Given the description of an element on the screen output the (x, y) to click on. 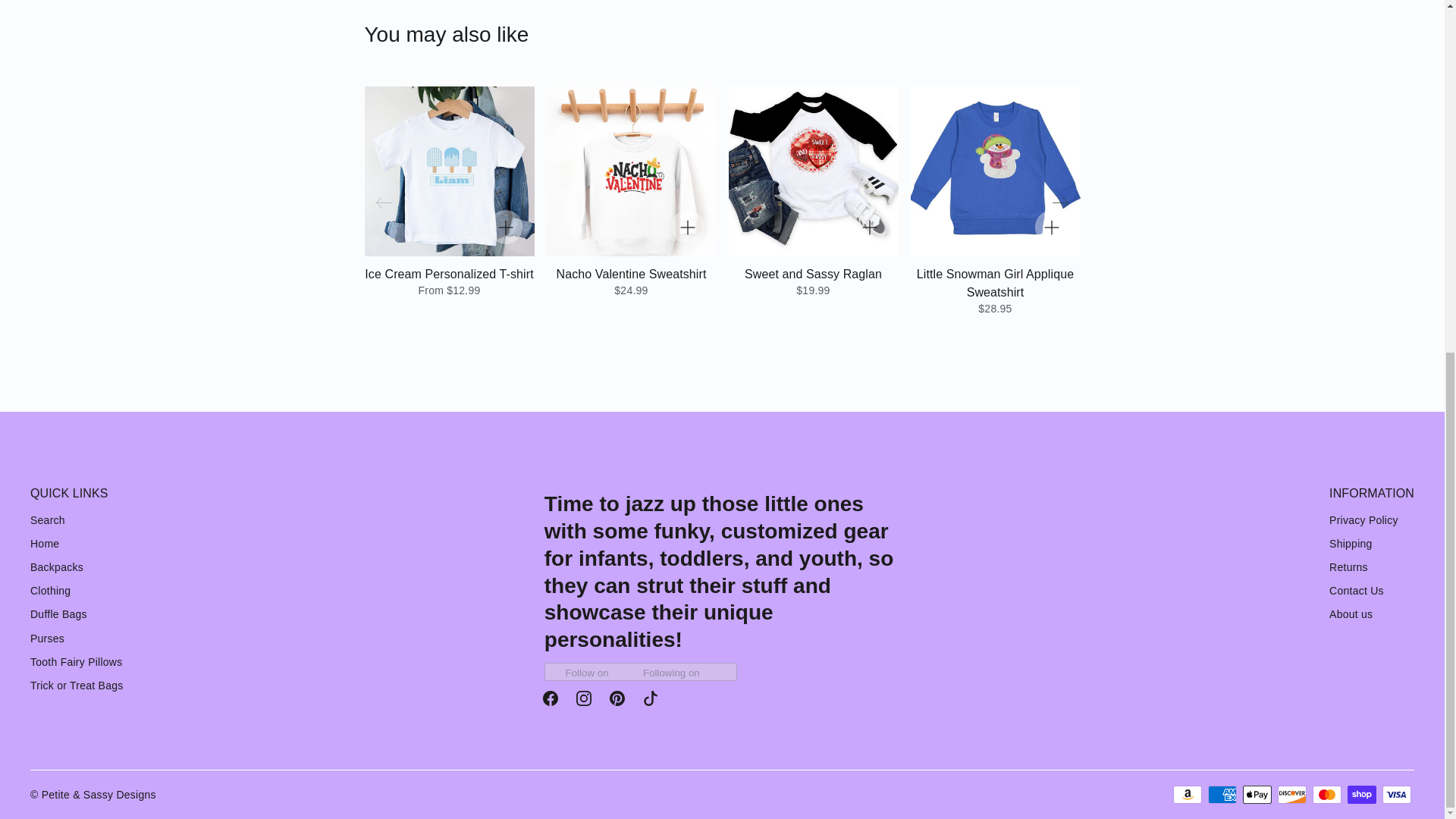
Choose options (1050, 226)
Choose options (504, 226)
Choose options (686, 226)
Choose options (868, 226)
